Given the description of an element on the screen output the (x, y) to click on. 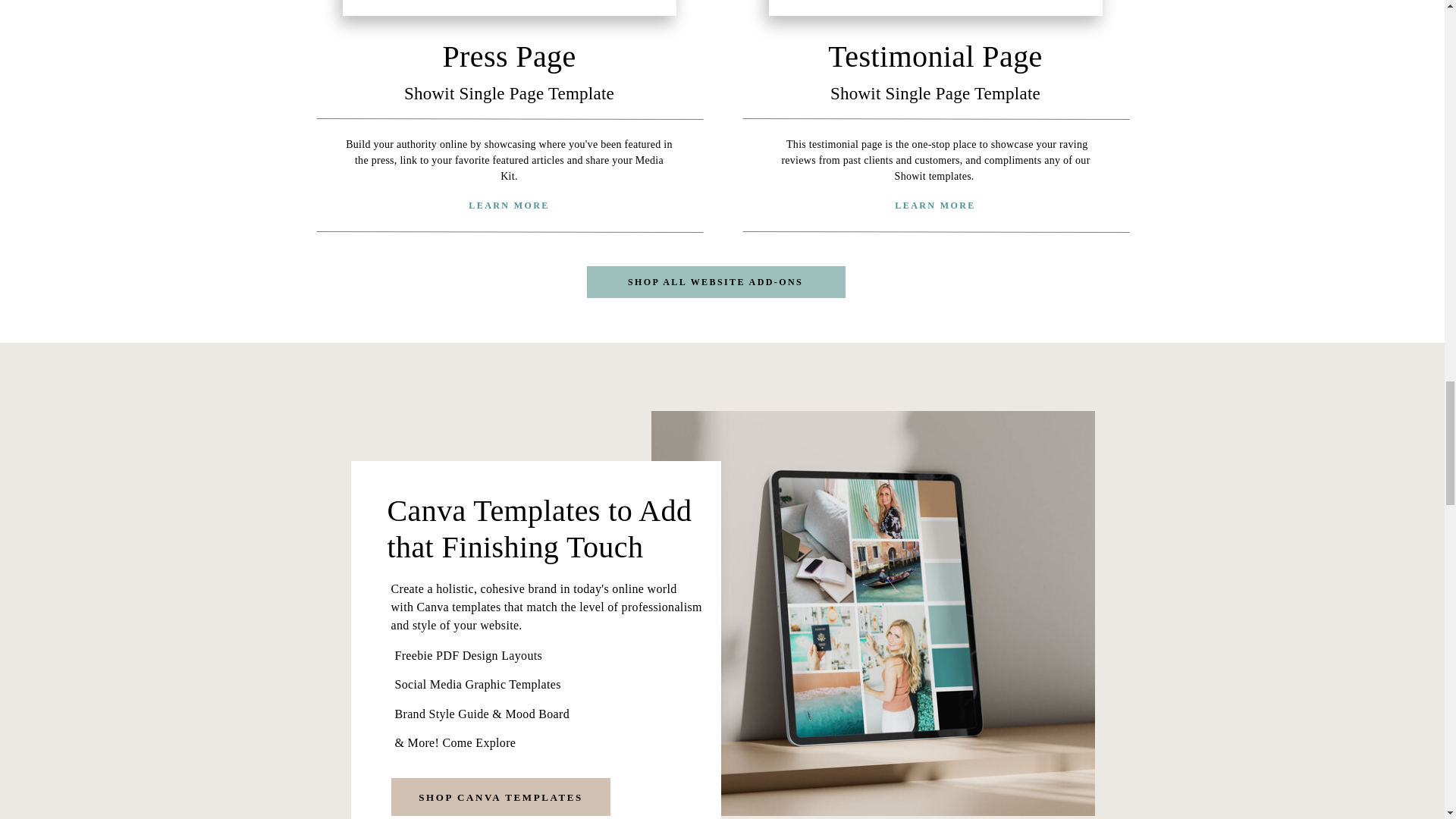
LEARN MORE (509, 207)
Press Page (508, 55)
Testimonial Page (935, 55)
SHOP ALL WEBSITE ADD-ONS (715, 283)
SHOP CANVA TEMPLATES (499, 797)
LEARN MORE (935, 207)
